Given the description of an element on the screen output the (x, y) to click on. 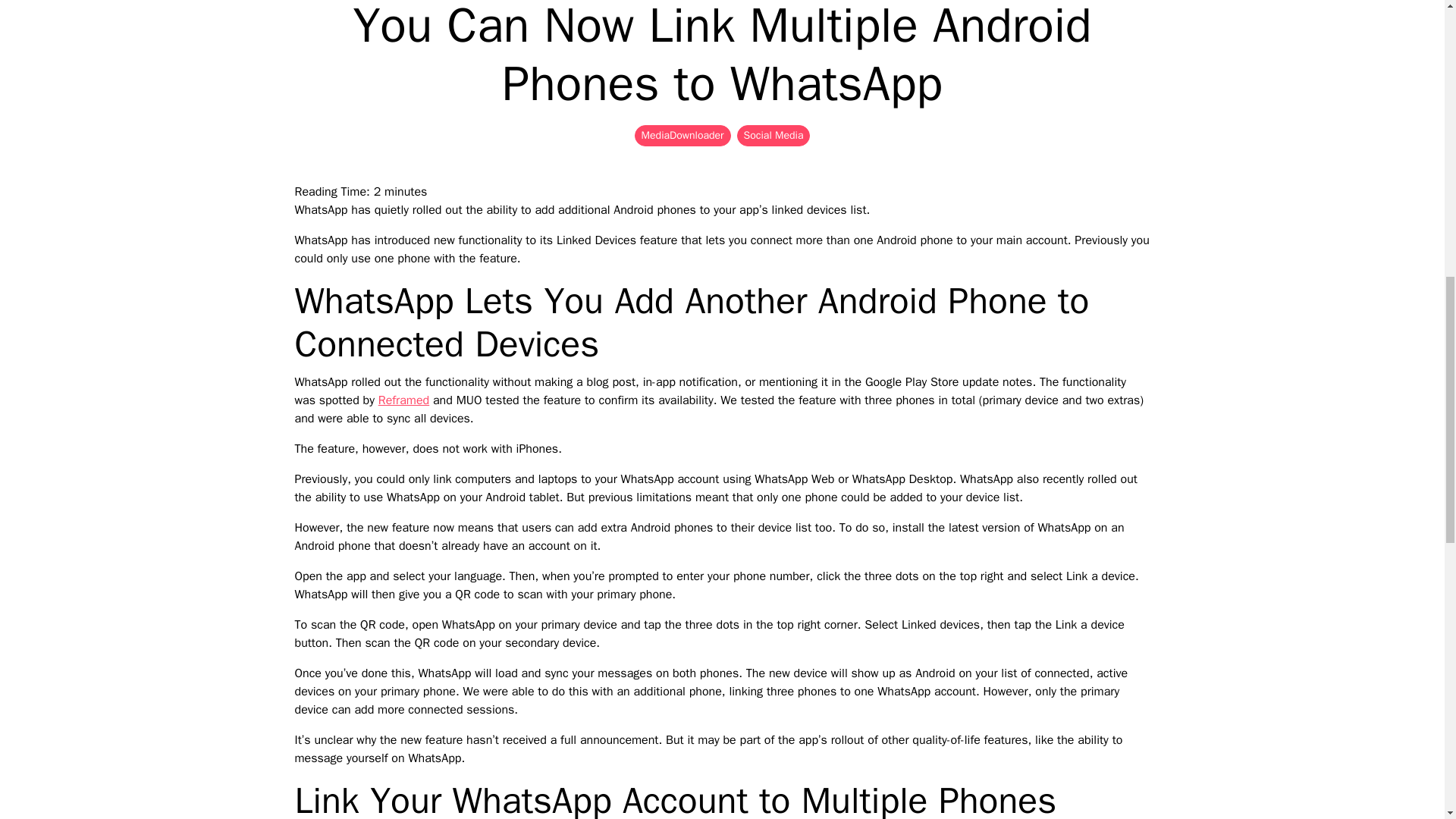
Reframed (403, 400)
MediaDownloader (682, 135)
Social Media (773, 135)
message yourself on WhatsApp (377, 758)
